Given the description of an element on the screen output the (x, y) to click on. 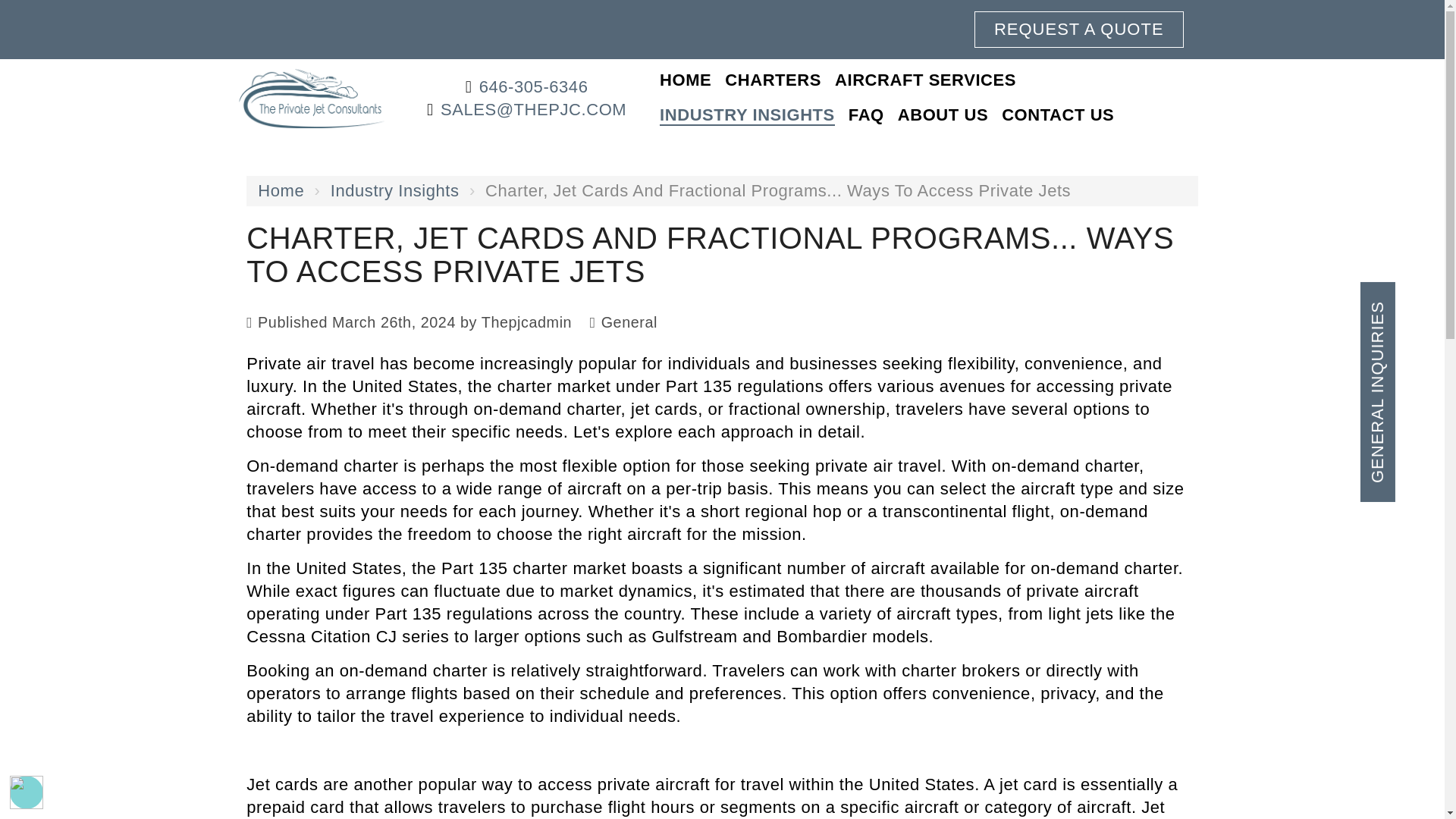
AIRCRAFT SERVICES (925, 80)
Thepjcadmin (526, 321)
REQUEST A QUOTE (1078, 29)
Industry Insights (395, 189)
Accessibility Menu (26, 792)
Home (280, 189)
CONTACT US (1057, 115)
General (629, 321)
646-305-6346 (533, 86)
CHARTERS (772, 80)
ABOUT US (942, 115)
HOME (684, 80)
FAQ (866, 115)
INDUSTRY INSIGHTS (746, 115)
